Given the description of an element on the screen output the (x, y) to click on. 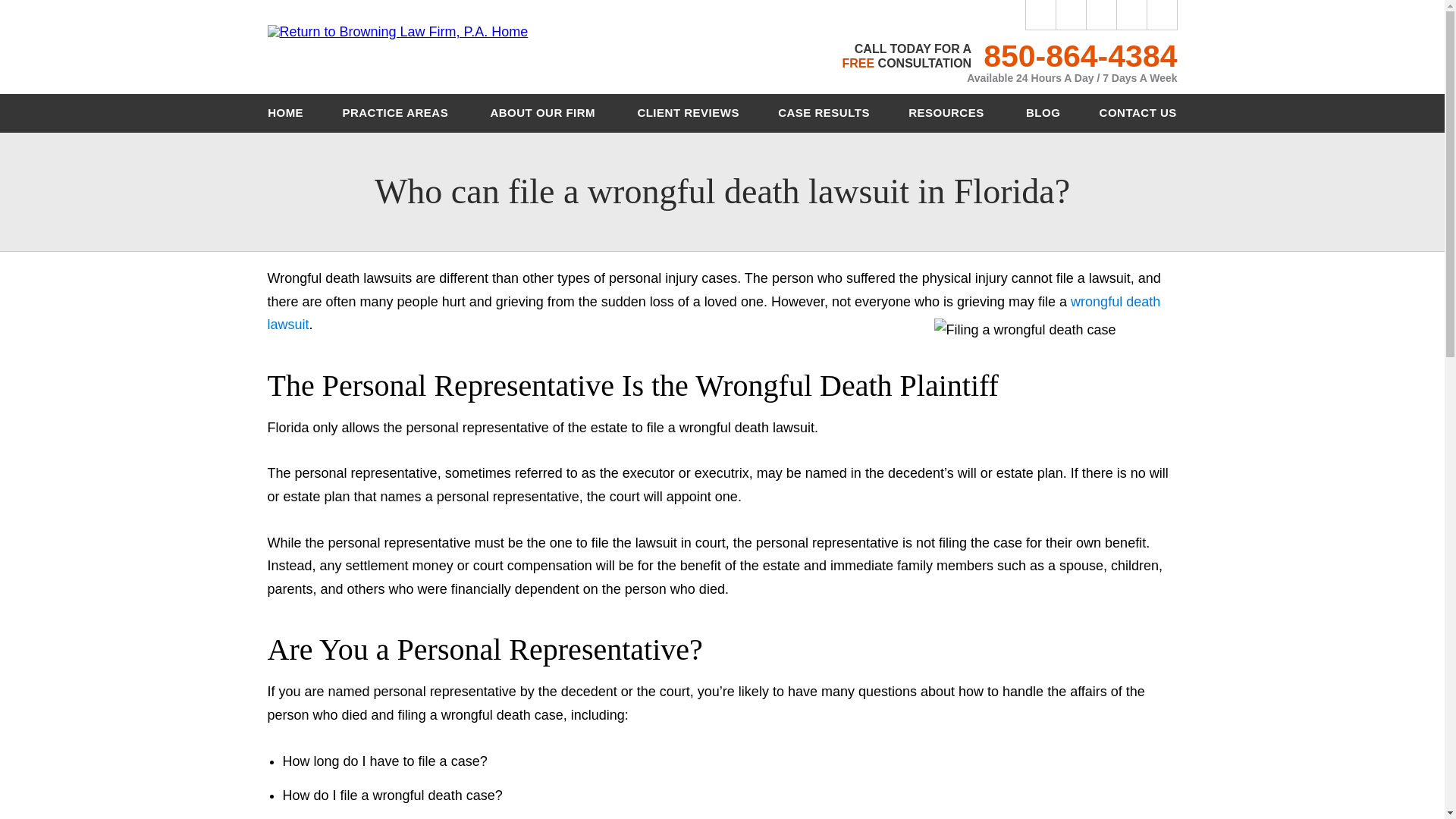
PRACTICE AREAS (396, 113)
CASE RESULTS (823, 113)
CLIENT REVIEWS (687, 113)
850-864-4384 (1080, 56)
HOME (285, 113)
RESOURCES (948, 113)
ABOUT OUR FIRM (543, 113)
Search (1161, 15)
